Given the description of an element on the screen output the (x, y) to click on. 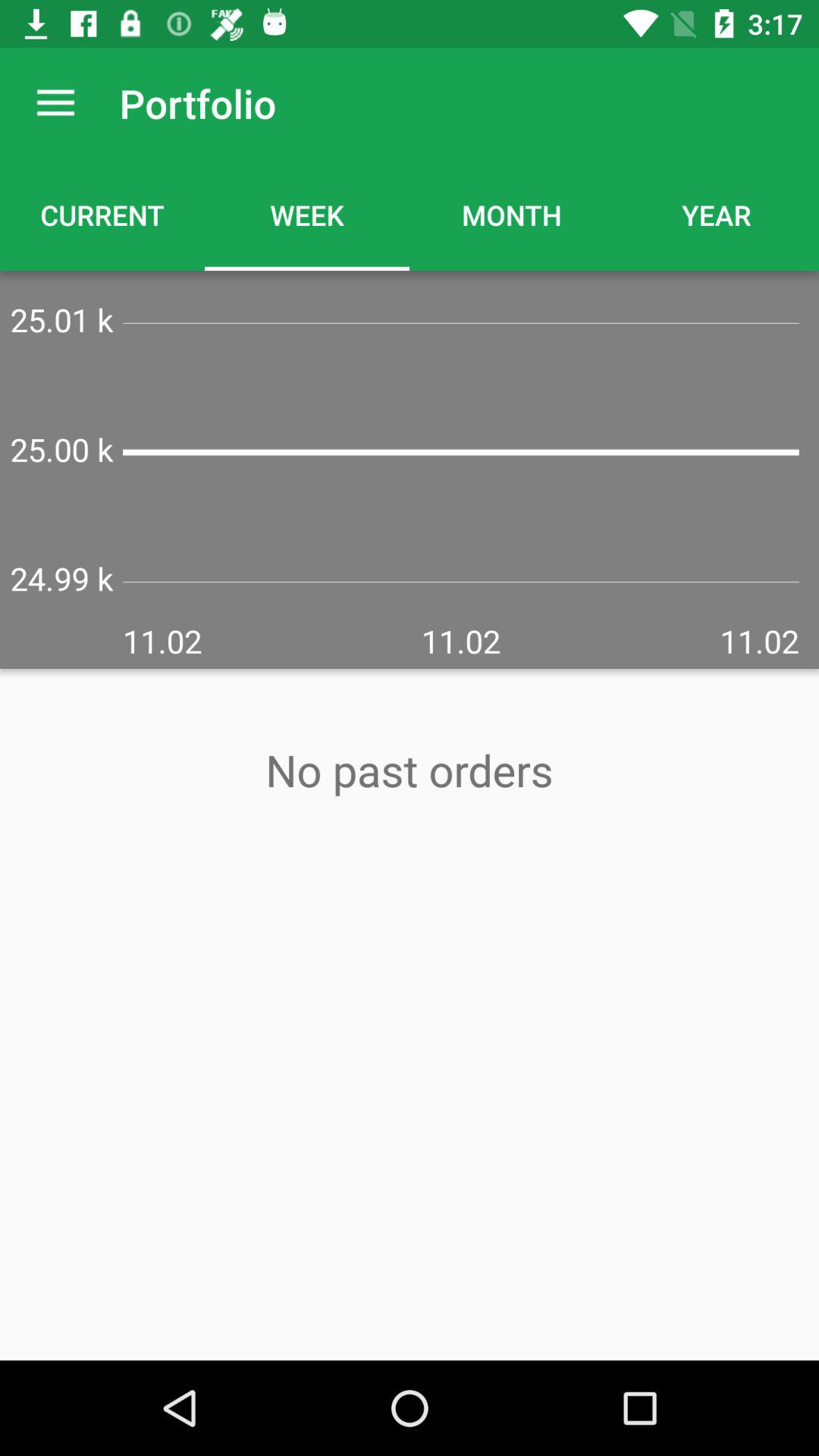
open the item above the current (55, 103)
